Given the description of an element on the screen output the (x, y) to click on. 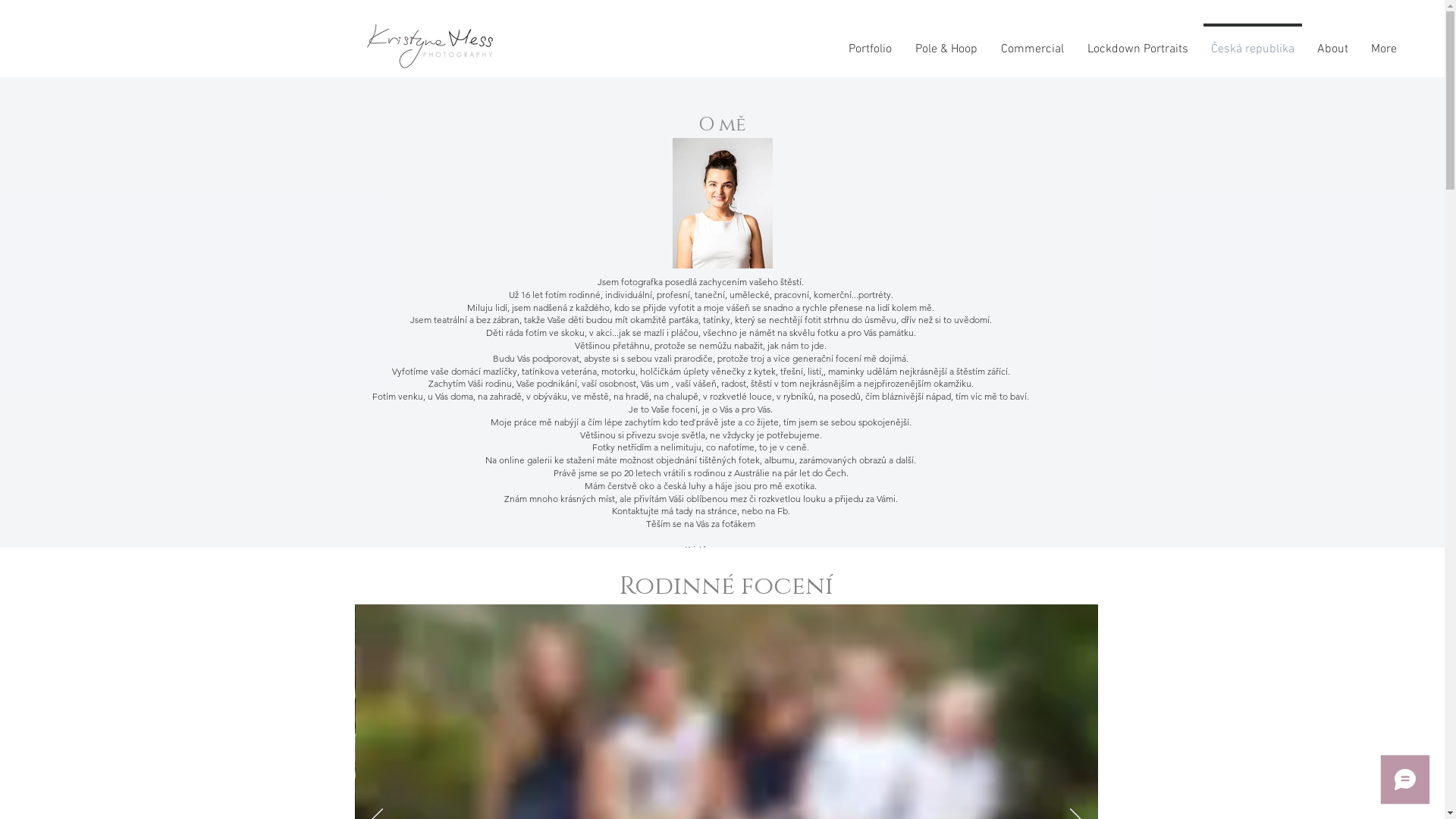
Pole & Hoop Element type: text (945, 42)
Portfolio Element type: text (869, 42)
About Element type: text (1332, 42)
Commercial Element type: text (1031, 42)
Lockdown Portraits Element type: text (1137, 42)
